Given the description of an element on the screen output the (x, y) to click on. 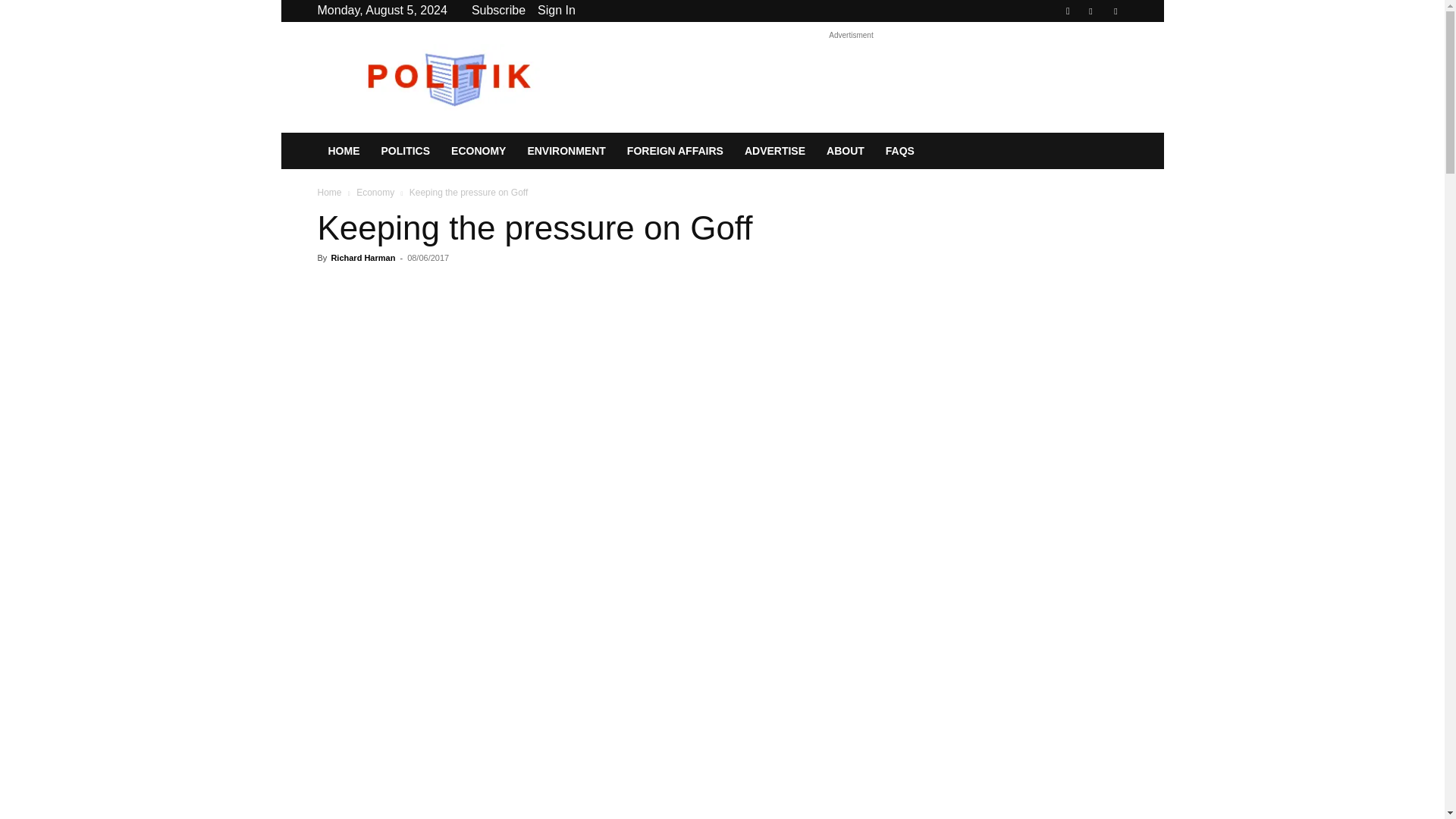
FOREIGN AFFAIRS (674, 150)
Sign In (556, 10)
ADVERTISE (774, 150)
ENVIRONMENT (565, 150)
ECONOMY (478, 150)
Home (328, 192)
Richard Harman (362, 257)
Facebook (1090, 10)
Economy (375, 192)
ABOUT (845, 150)
Subscribe (498, 10)
FAQS (899, 150)
View all posts in Economy (375, 192)
HOME (343, 150)
Twitter (1114, 10)
